Given the description of an element on the screen output the (x, y) to click on. 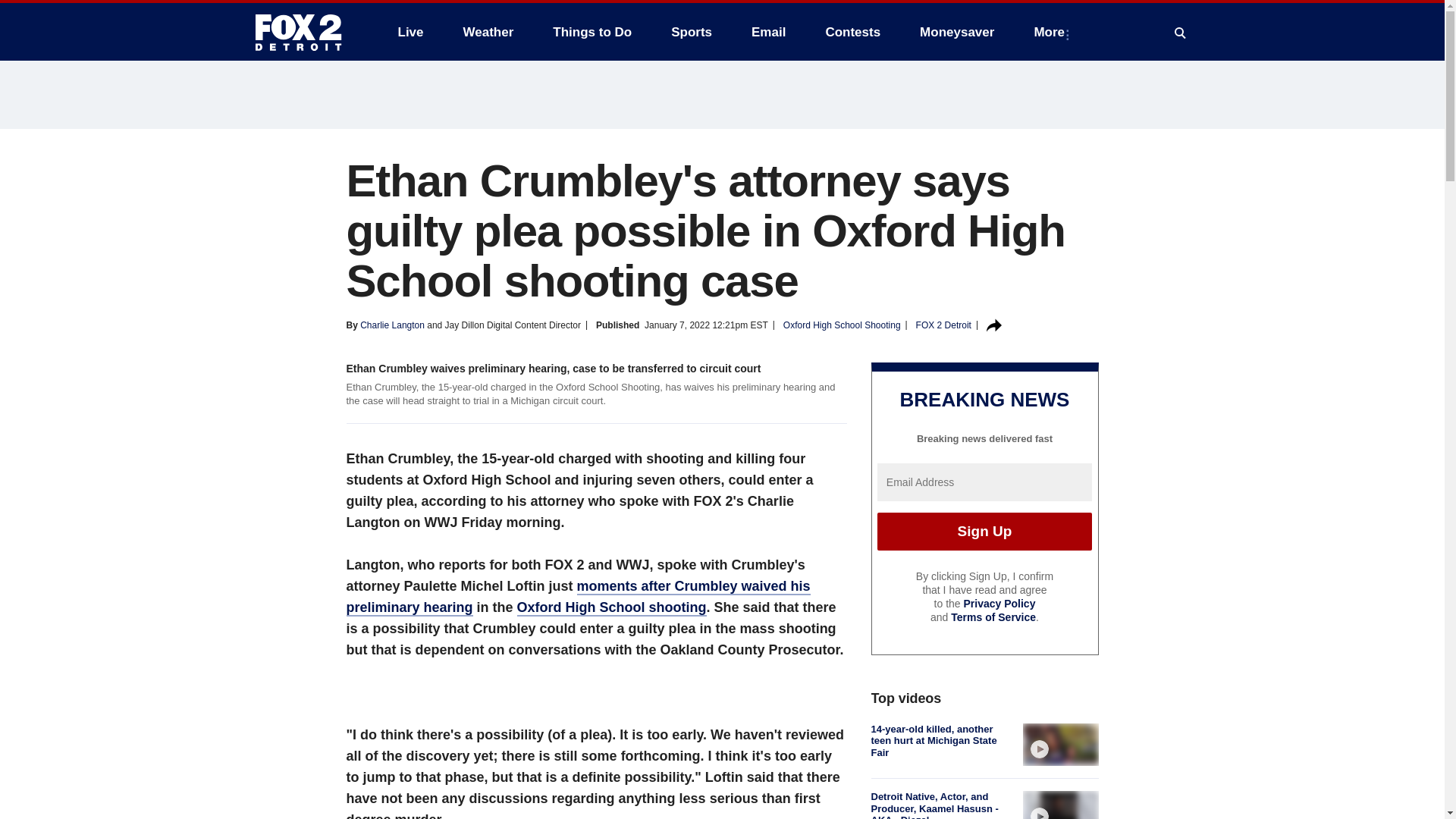
Moneysaver (956, 32)
Weather (488, 32)
Things to Do (591, 32)
More (1052, 32)
Email (768, 32)
Live (410, 32)
Contests (852, 32)
Sign Up (984, 531)
Sports (691, 32)
